Given the description of an element on the screen output the (x, y) to click on. 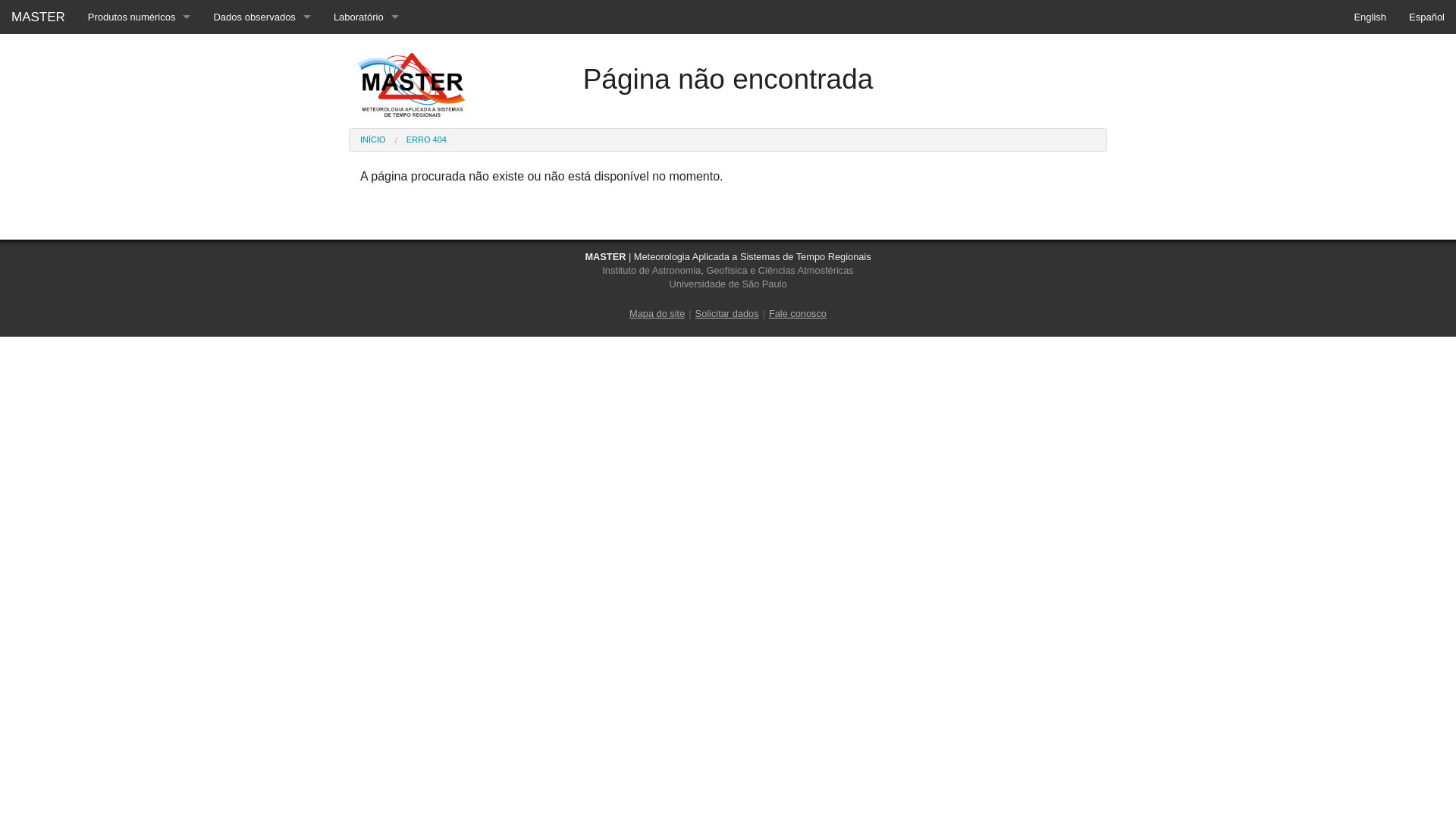
English Element type: text (1369, 17)
Modelos Regionais Element type: text (139, 85)
Ensino Element type: text (366, 85)
Modelos Globais Element type: text (139, 51)
MASTER Element type: text (38, 17)
Dados observados Element type: text (261, 17)
Artigos Element type: text (366, 153)
Queimadas Element type: text (139, 153)
Fale conosco Element type: text (797, 313)
SYNOP Element type: text (261, 187)
Projeto LBA Element type: text (366, 119)
Radiossondagem Element type: text (261, 85)
METAR - Aeroportos Element type: text (261, 153)
Solicitar dados Element type: text (366, 221)
Solicitar dados Element type: text (727, 313)
Mapa do site Element type: text (656, 313)
Fale Conosco Element type: text (366, 255)
Equipe Element type: text (366, 51)
